Given the description of an element on the screen output the (x, y) to click on. 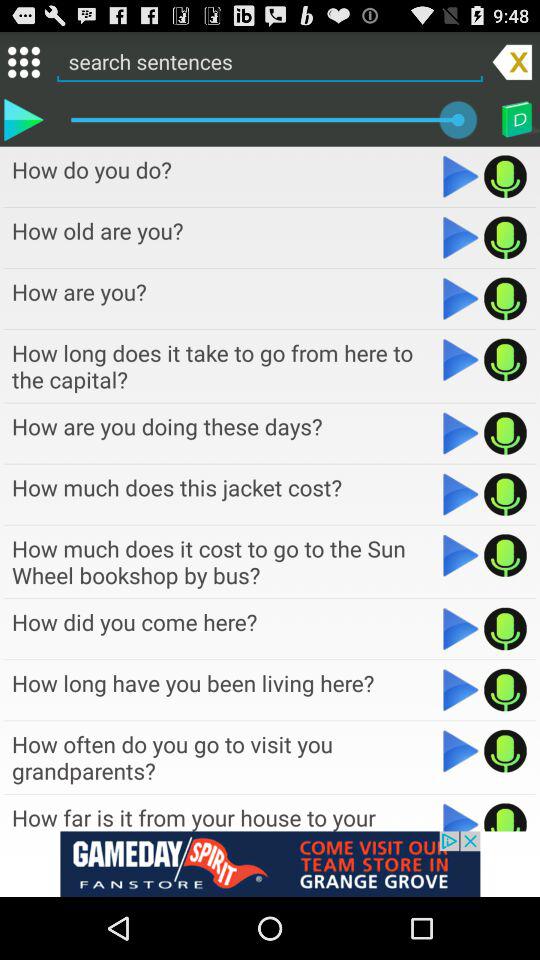
go to play (460, 494)
